Given the description of an element on the screen output the (x, y) to click on. 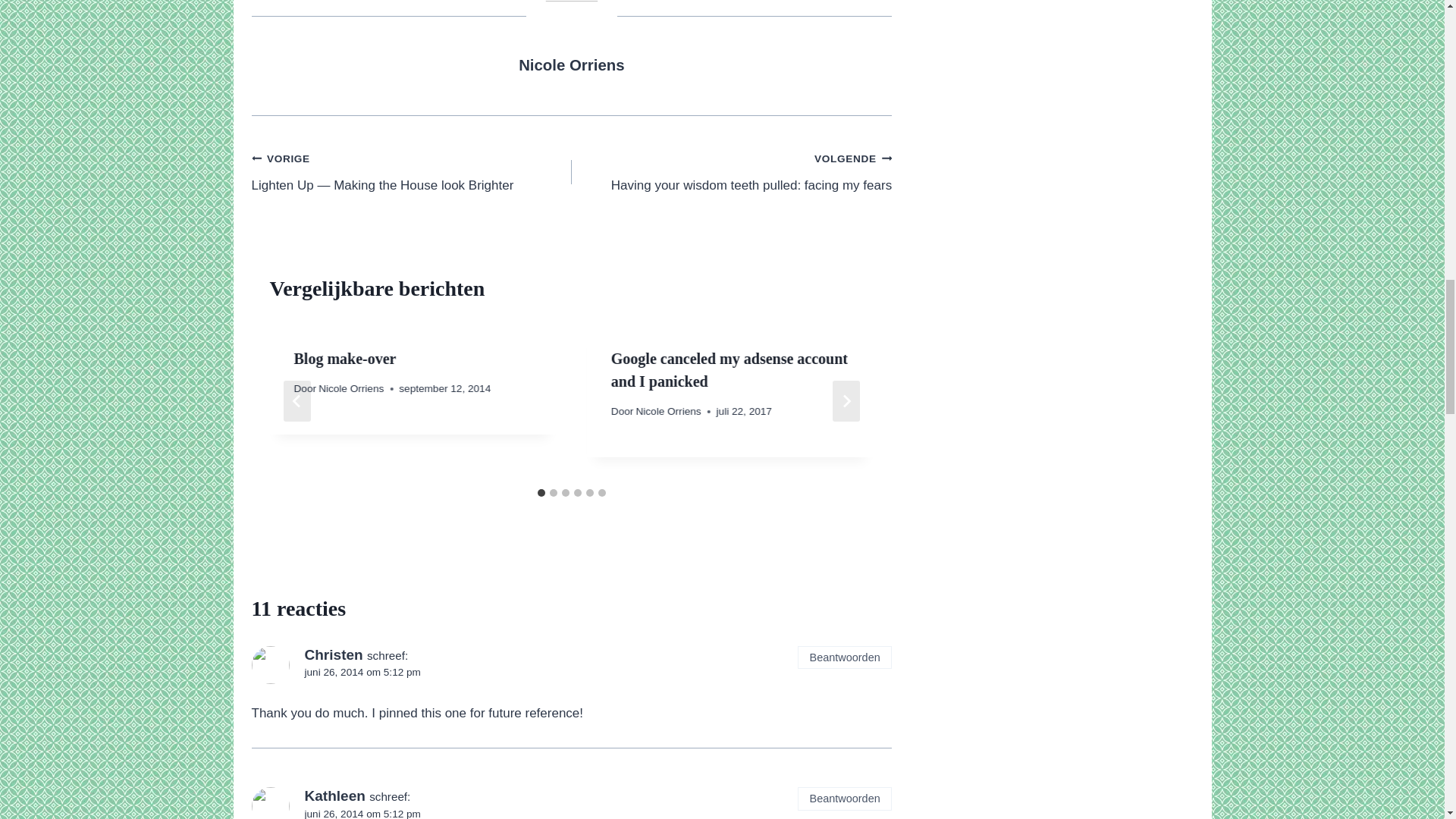
Nicole Orriens (571, 64)
Berichten van Nicole Orriens (731, 171)
